Given the description of an element on the screen output the (x, y) to click on. 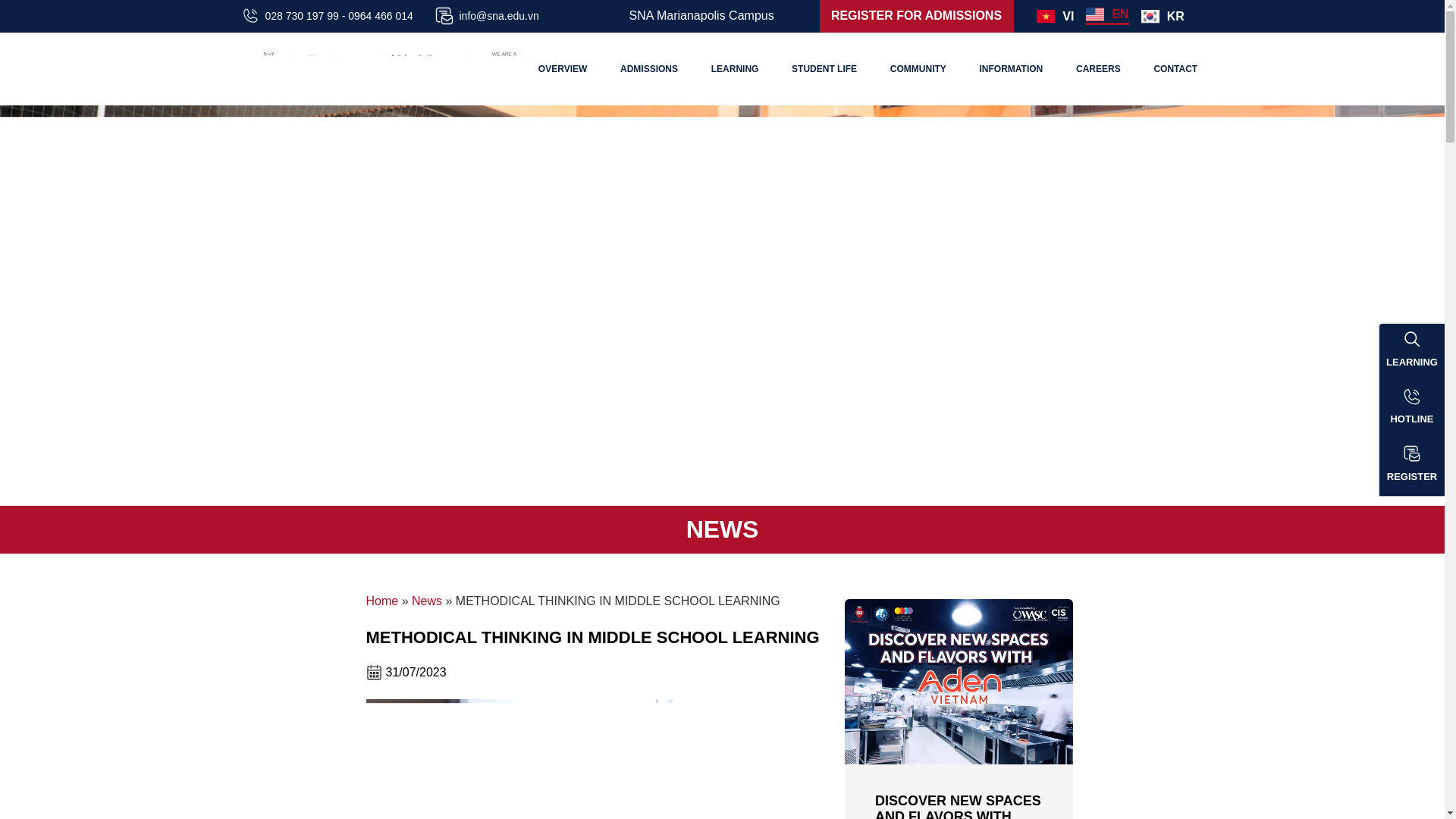
KR (1163, 16)
LEARNING (734, 68)
SNA Marianapolis Campus (701, 15)
ADMISSIONS (649, 68)
OVERVIEW (561, 68)
STUDENT LIFE (824, 68)
REGISTER FOR ADMISSIONS (916, 15)
EN (1107, 14)
VI (1055, 16)
